Given the description of an element on the screen output the (x, y) to click on. 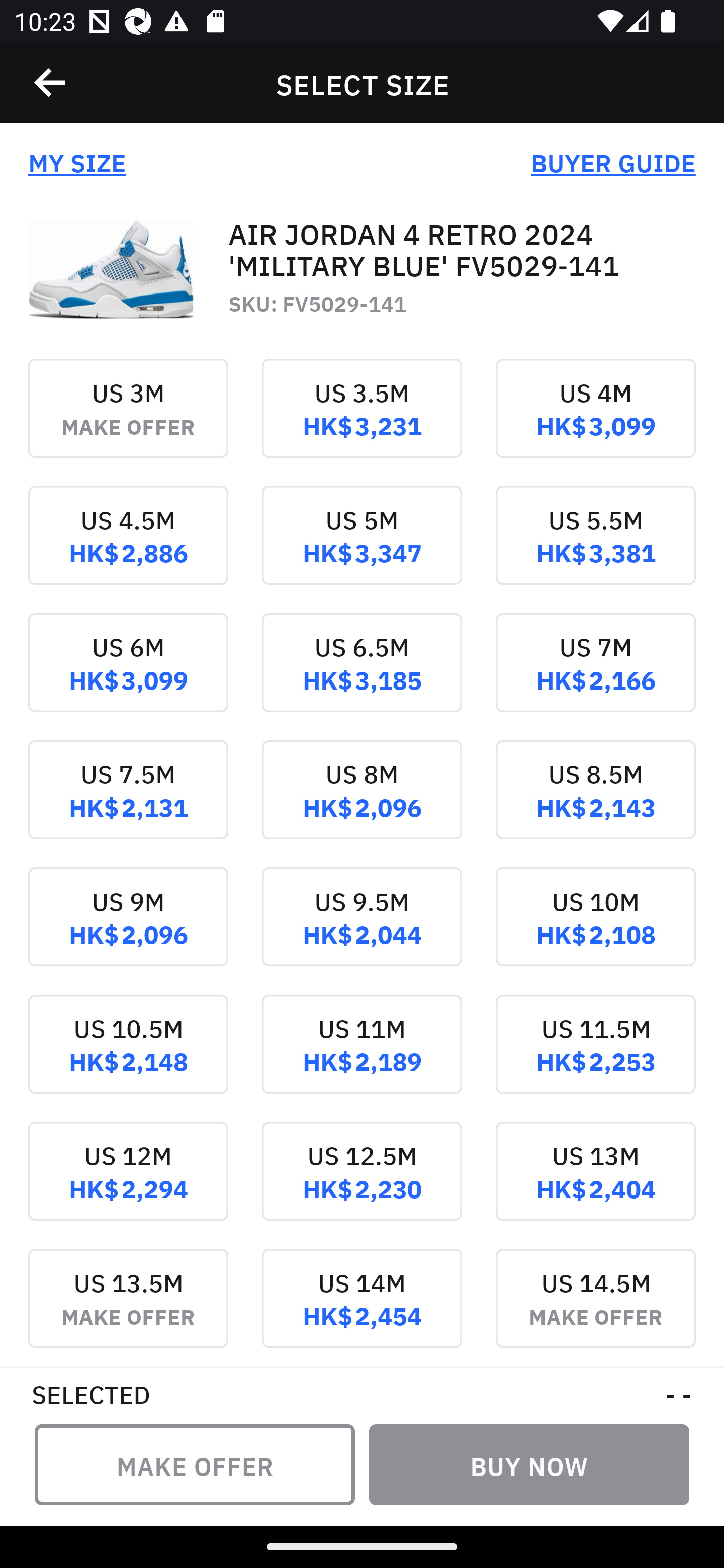
 (50, 83)
US 3M MAKE OFFER (128, 422)
US 3.5M HK$ 3,231 (361, 422)
US 4M HK$ 3,099 (595, 422)
US 4.5M HK$ 2,886 (128, 549)
US 5M HK$ 3,347 (361, 549)
US 5.5M HK$ 3,381 (595, 549)
US 6M HK$ 3,099 (128, 676)
US 6.5M HK$ 3,185 (361, 676)
US 7M HK$ 2,166 (595, 676)
US 7.5M HK$ 2,131 (128, 803)
US 8M HK$ 2,096 (361, 803)
US 8.5M HK$ 2,143 (595, 803)
US 9M HK$ 2,096 (128, 930)
US 9.5M HK$ 2,044 (361, 930)
US 10M HK$ 2,108 (595, 930)
US 10.5M HK$ 2,148 (128, 1057)
US 11M HK$ 2,189 (361, 1057)
US 11.5M HK$ 2,253 (595, 1057)
US 12M HK$ 2,294 (128, 1184)
US 12.5M HK$ 2,230 (361, 1184)
US 13M HK$ 2,404 (595, 1184)
US 13.5M MAKE OFFER (128, 1306)
US 14M HK$ 2,454 (361, 1306)
US 14.5M MAKE OFFER (595, 1306)
MAKE OFFER (194, 1464)
BUY NOW (529, 1464)
